Given the description of an element on the screen output the (x, y) to click on. 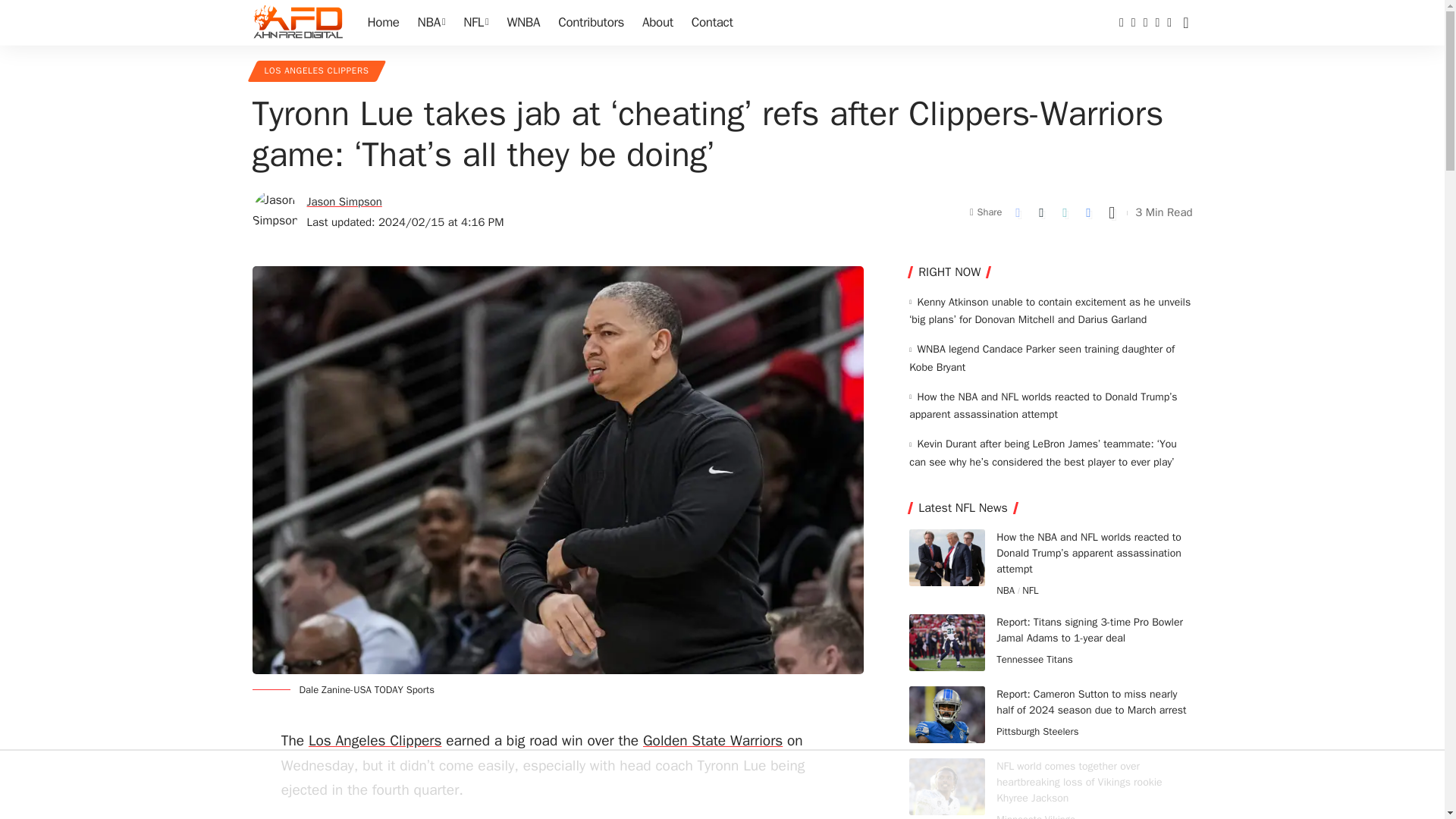
Los Angeles Clippers (375, 741)
NFL (475, 22)
Golden State Warriors (713, 741)
NBA (431, 22)
Home (382, 22)
Ahn Fire Digital (296, 22)
